Given the description of an element on the screen output the (x, y) to click on. 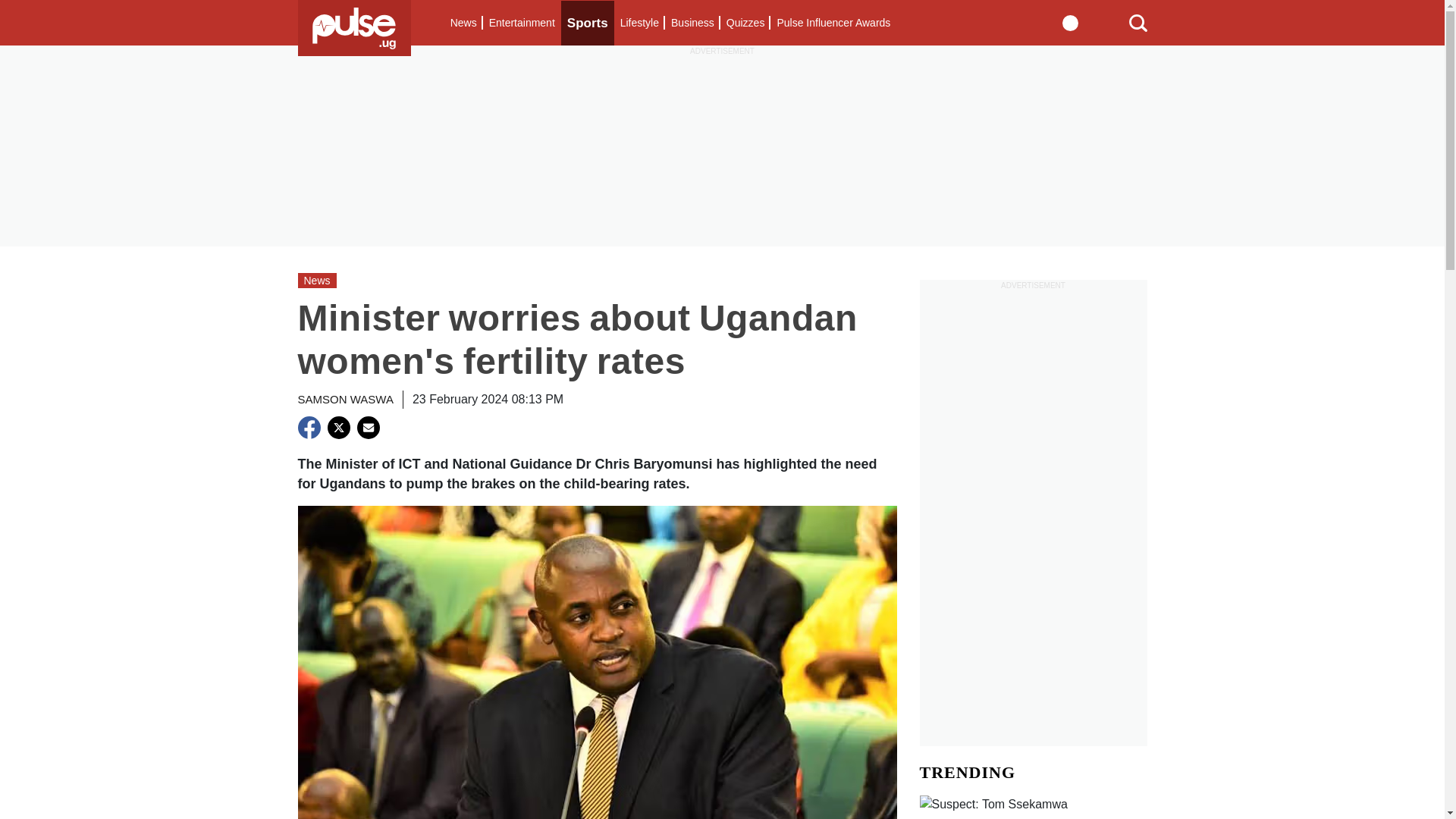
Sports (587, 22)
Business (692, 22)
Quizzes (745, 22)
Entertainment (521, 22)
Pulse Influencer Awards (833, 22)
Lifestyle (639, 22)
